Given the description of an element on the screen output the (x, y) to click on. 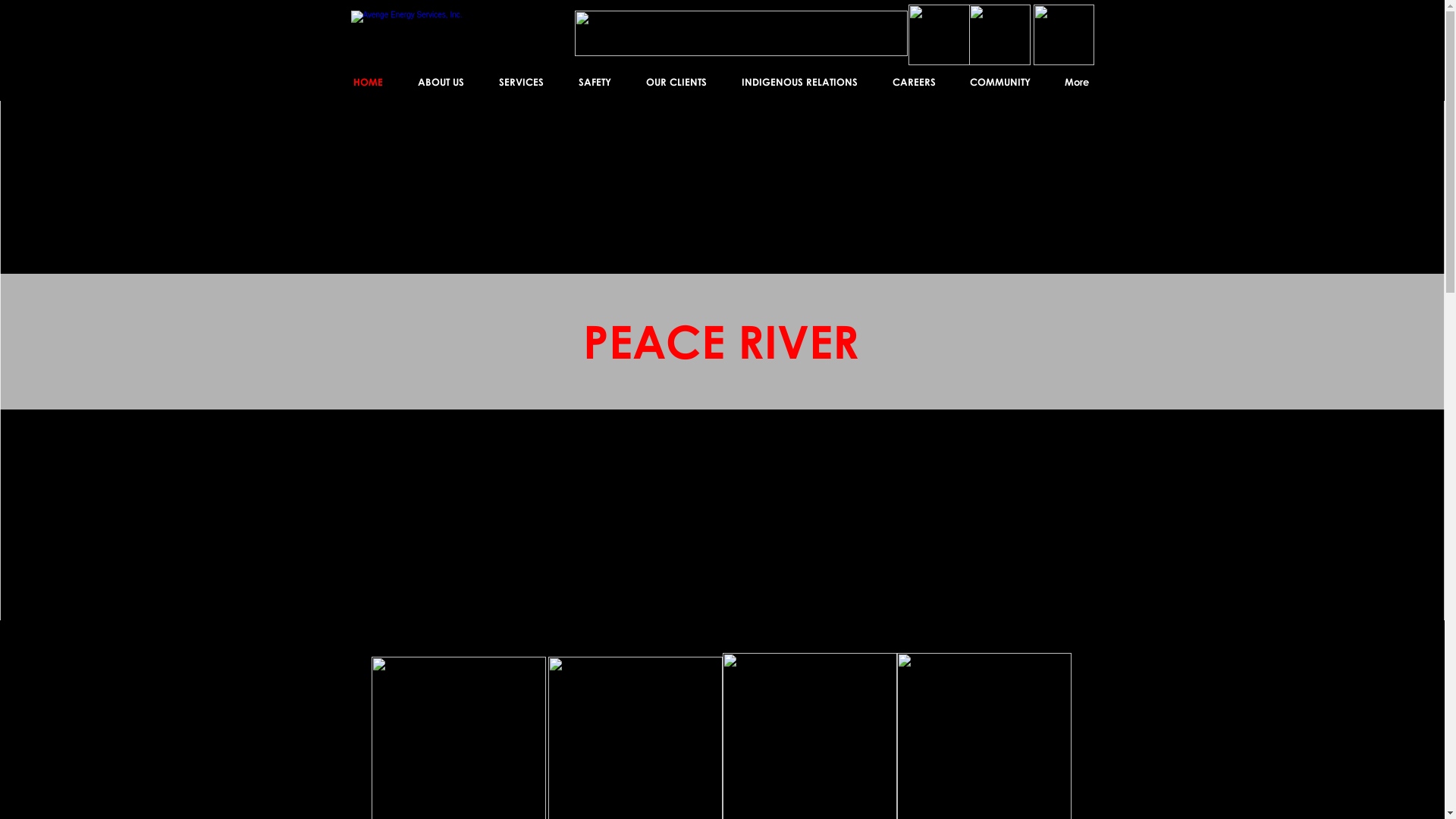
CAREERS Element type: text (914, 81)
SAFETY Element type: text (594, 81)
ABOUT US Element type: text (440, 81)
HOME Element type: text (367, 81)
COMMUNITY Element type: text (999, 81)
INDIGENOUS RELATIONS Element type: text (798, 81)
SERVICES Element type: text (520, 81)
OUR CLIENTS Element type: text (675, 81)
